Given the description of an element on the screen output the (x, y) to click on. 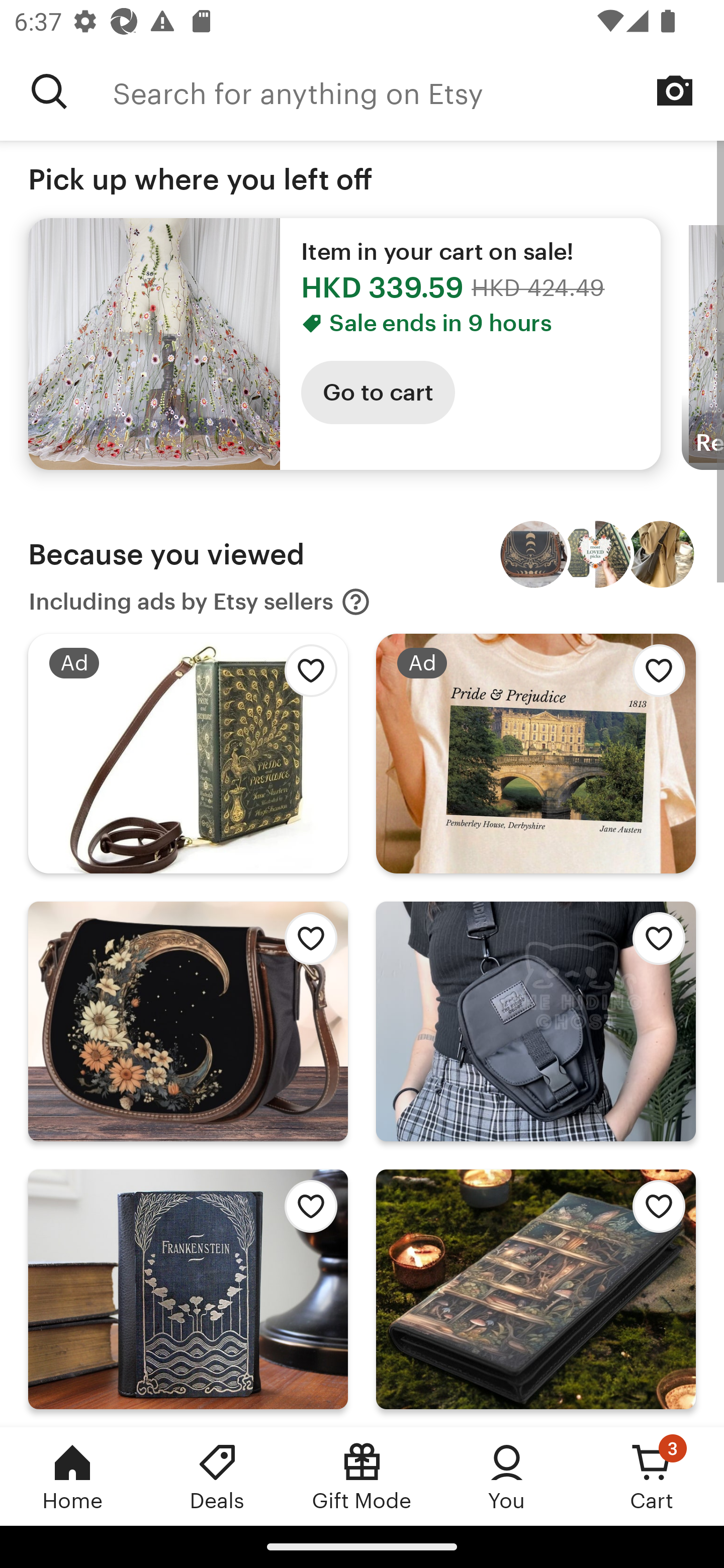
Search for anything on Etsy (49, 91)
Search by image (674, 90)
Search for anything on Etsy (418, 91)
Including ads by Etsy sellers (199, 601)
Deals (216, 1475)
Gift Mode (361, 1475)
You (506, 1475)
Cart, 3 new notifications Cart (651, 1475)
